Given the description of an element on the screen output the (x, y) to click on. 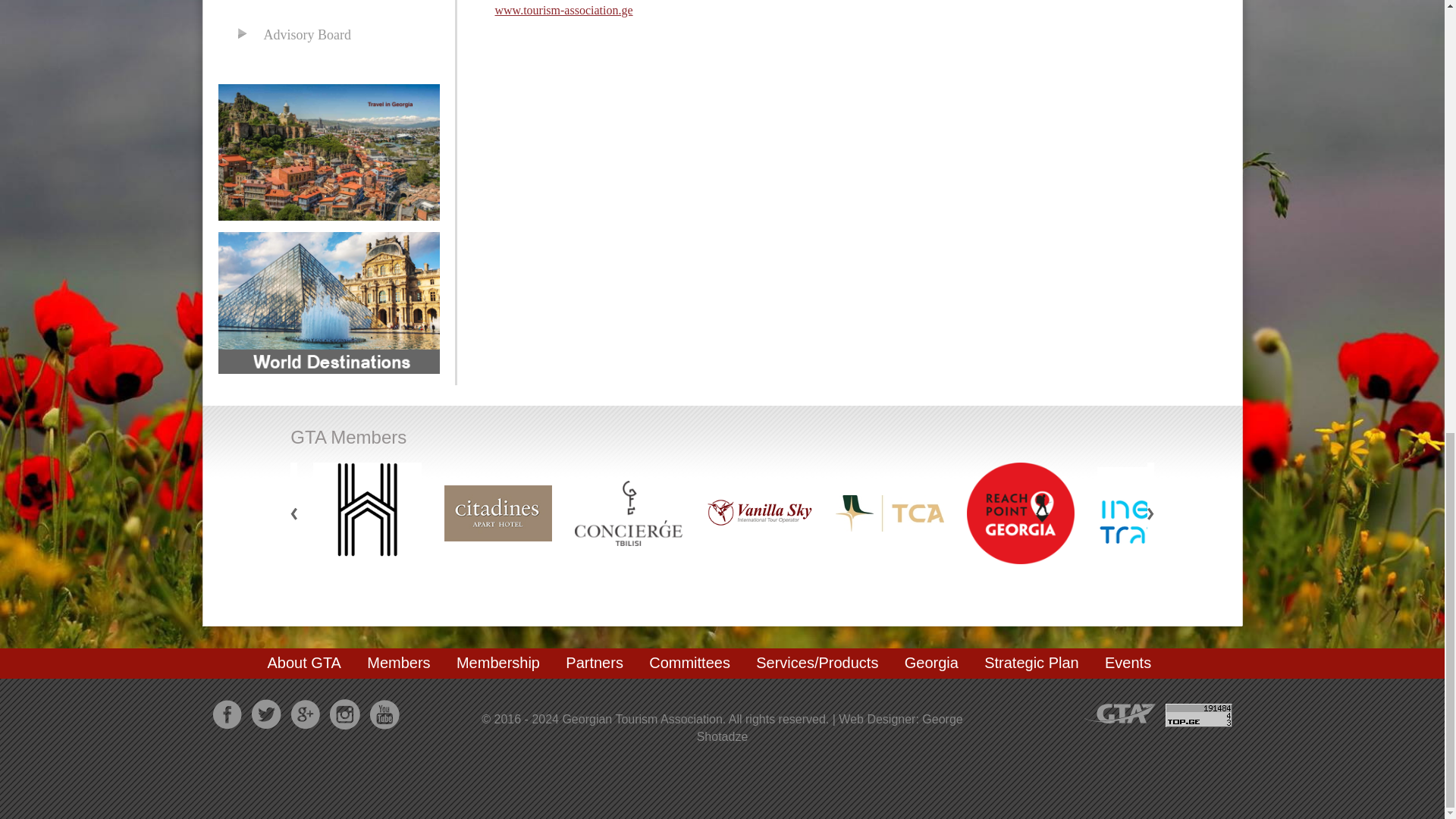
Twitter (266, 714)
Instagram (344, 714)
Facebook (226, 714)
